Given the description of an element on the screen output the (x, y) to click on. 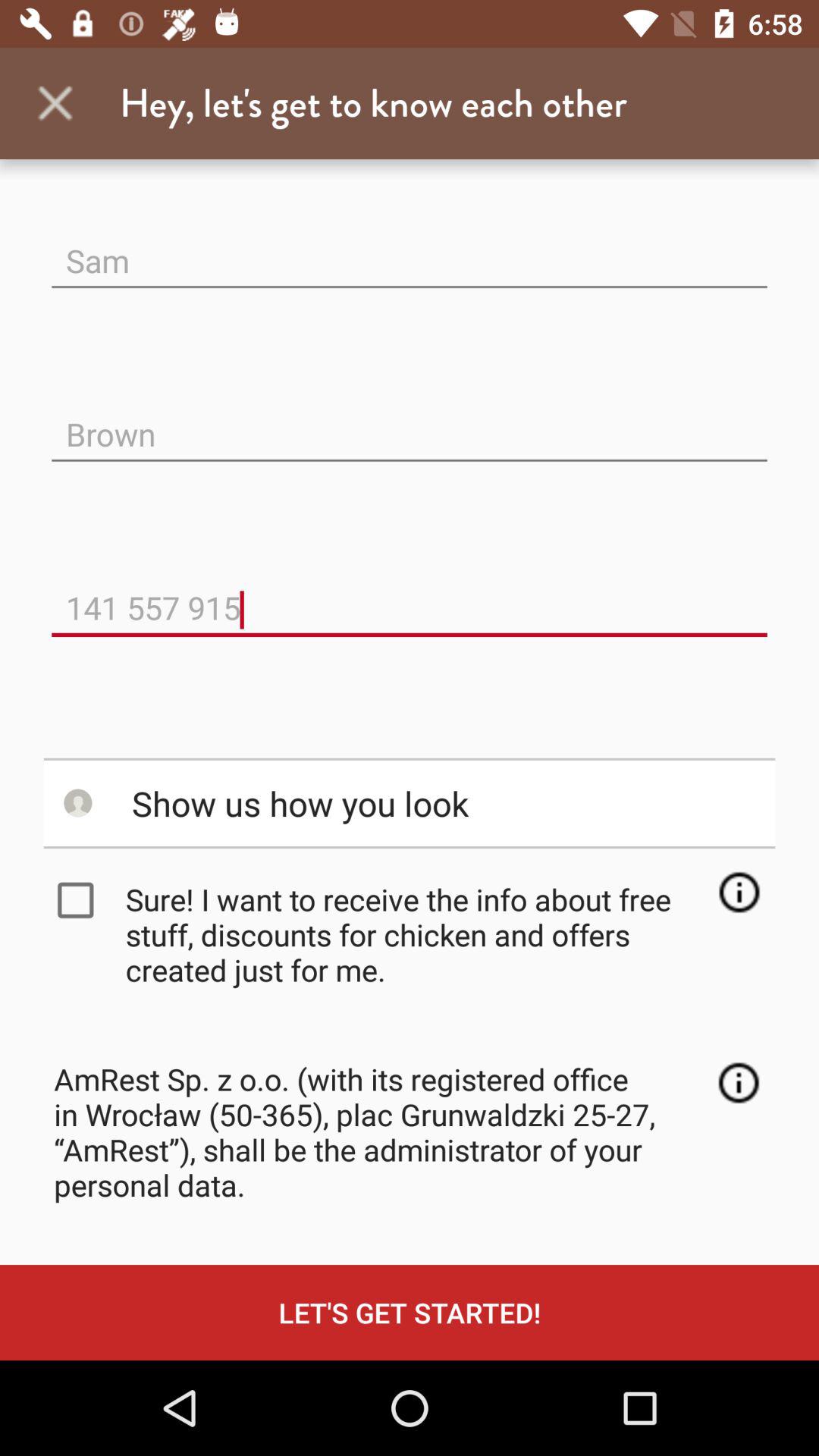
click the brown icon (409, 422)
